Given the description of an element on the screen output the (x, y) to click on. 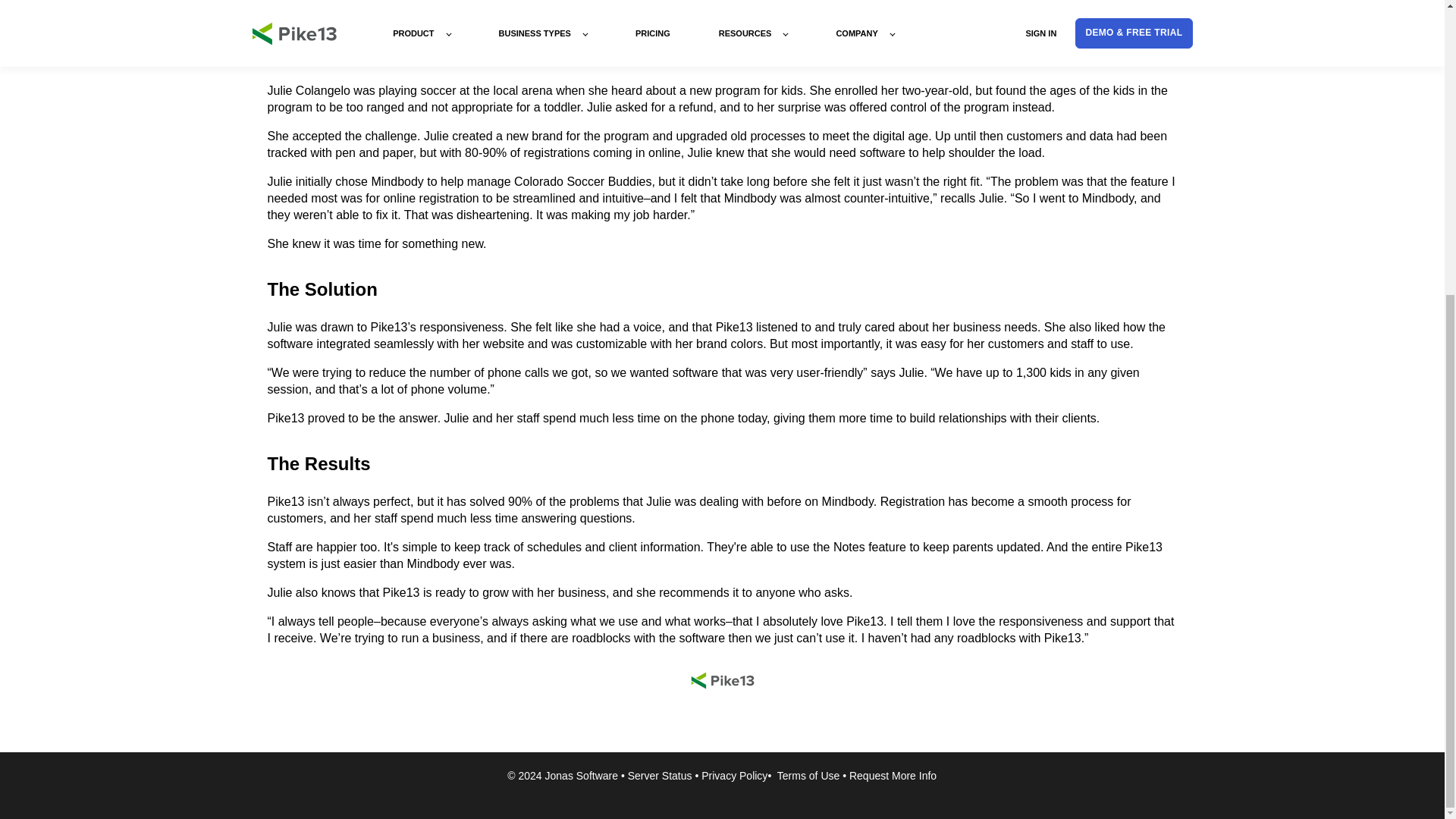
Terms of Use (808, 775)
Server Status (660, 775)
Privacy Policy (734, 775)
